Given the description of an element on the screen output the (x, y) to click on. 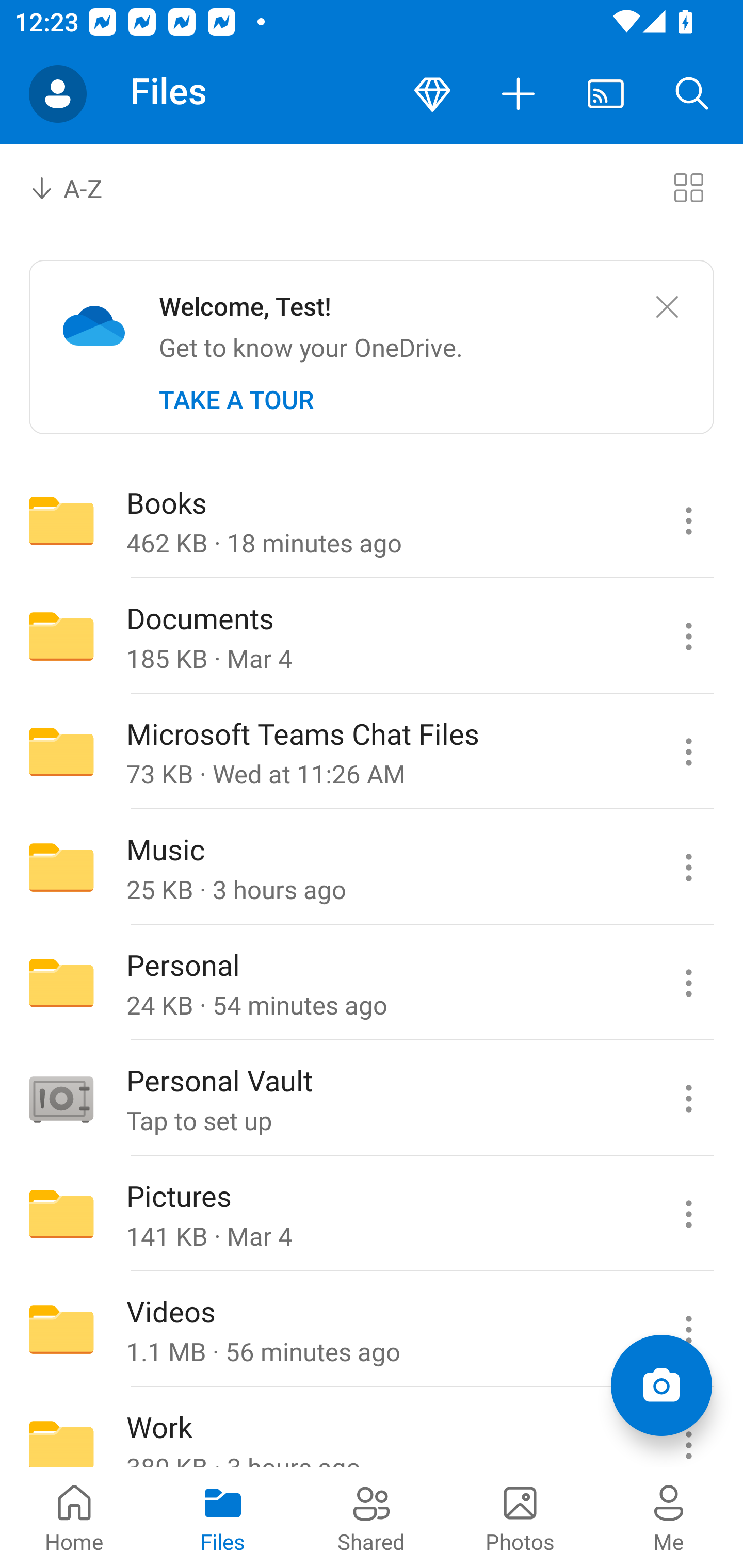
Account switcher (57, 93)
Cast. Disconnected (605, 93)
Premium button (432, 93)
More actions button (518, 93)
Search button (692, 93)
A-Z Sort by combo box, sort by name, A to Z (80, 187)
Switch to tiles view (688, 187)
Close (667, 307)
TAKE A TOUR (236, 399)
Books commands (688, 520)
Folder Documents 185 KB · Mar 4 Documents commands (371, 636)
Documents commands (688, 636)
Microsoft Teams Chat Files commands (688, 751)
Folder Music 25 KB · 3 hours ago Music commands (371, 867)
Music commands (688, 867)
Personal commands (688, 983)
Personal Vault commands (688, 1099)
Folder Pictures 141 KB · Mar 4 Pictures commands (371, 1214)
Pictures commands (688, 1214)
Videos commands (688, 1329)
Add items Scan (660, 1385)
Folder Work 380 KB · 3 hours ago Work commands (371, 1427)
Work commands (688, 1427)
Home pivot Home (74, 1517)
Shared pivot Shared (371, 1517)
Photos pivot Photos (519, 1517)
Me pivot Me (668, 1517)
